Given the description of an element on the screen output the (x, y) to click on. 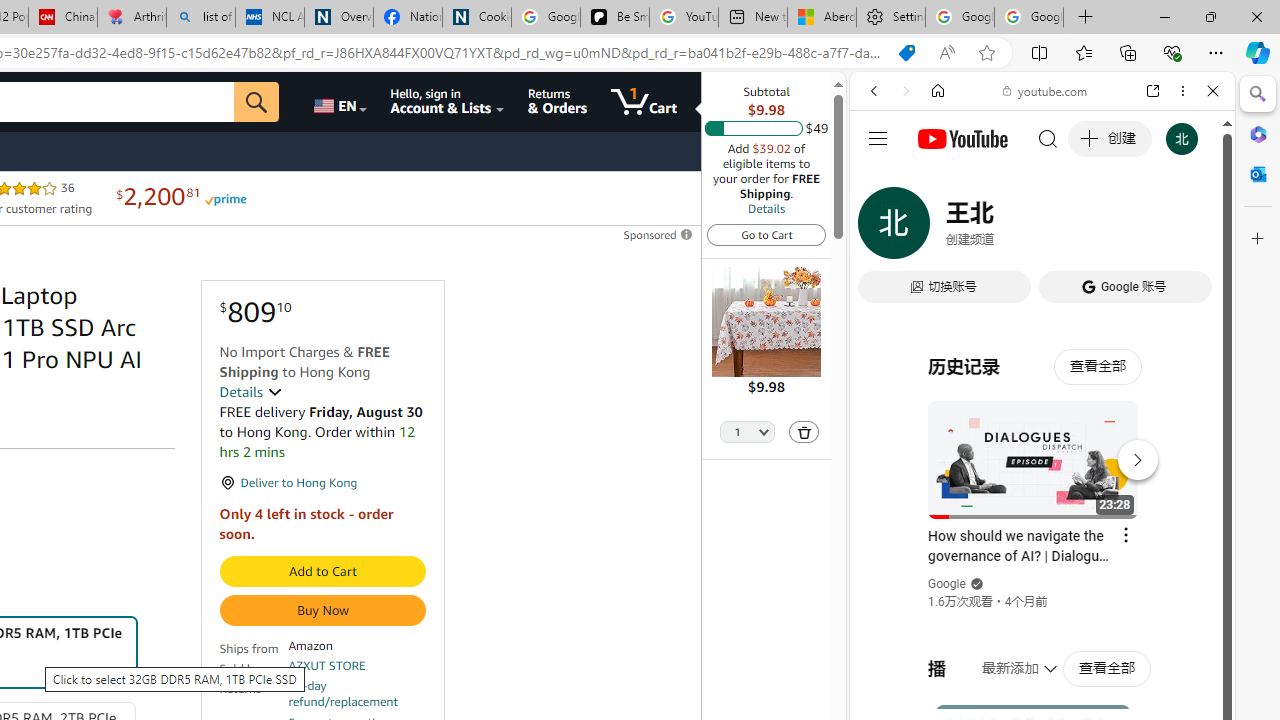
1 item in cart (643, 101)
Buy Now (322, 610)
Choose a language for shopping. (339, 101)
Be Smart | creating Science videos | Patreon (614, 17)
WEB   (882, 228)
